Given the description of an element on the screen output the (x, y) to click on. 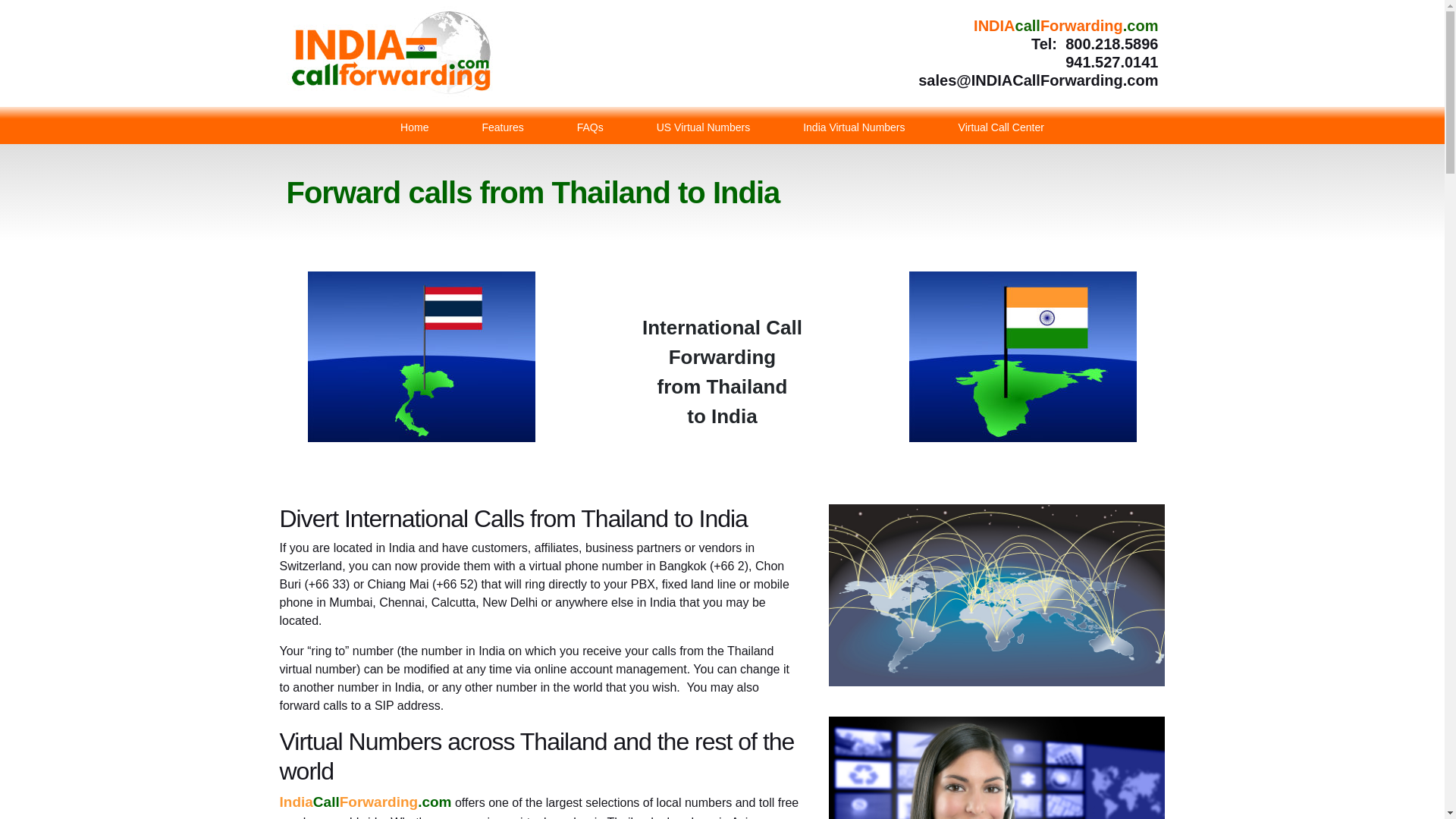
FAQs (590, 125)
World Trade Map Background (996, 595)
Features (502, 125)
800.218.5896 (1111, 44)
India Virtual Numbers (853, 125)
Thai Flag On Map (421, 356)
US Virtual Numbers (703, 125)
Logo (391, 49)
Beautiful Indian Woman Television News Presenter (996, 767)
Home (414, 125)
Virtual Call Center (1000, 125)
941.527.0141 (1111, 62)
Indian Flag Illustration (1022, 356)
